Given the description of an element on the screen output the (x, y) to click on. 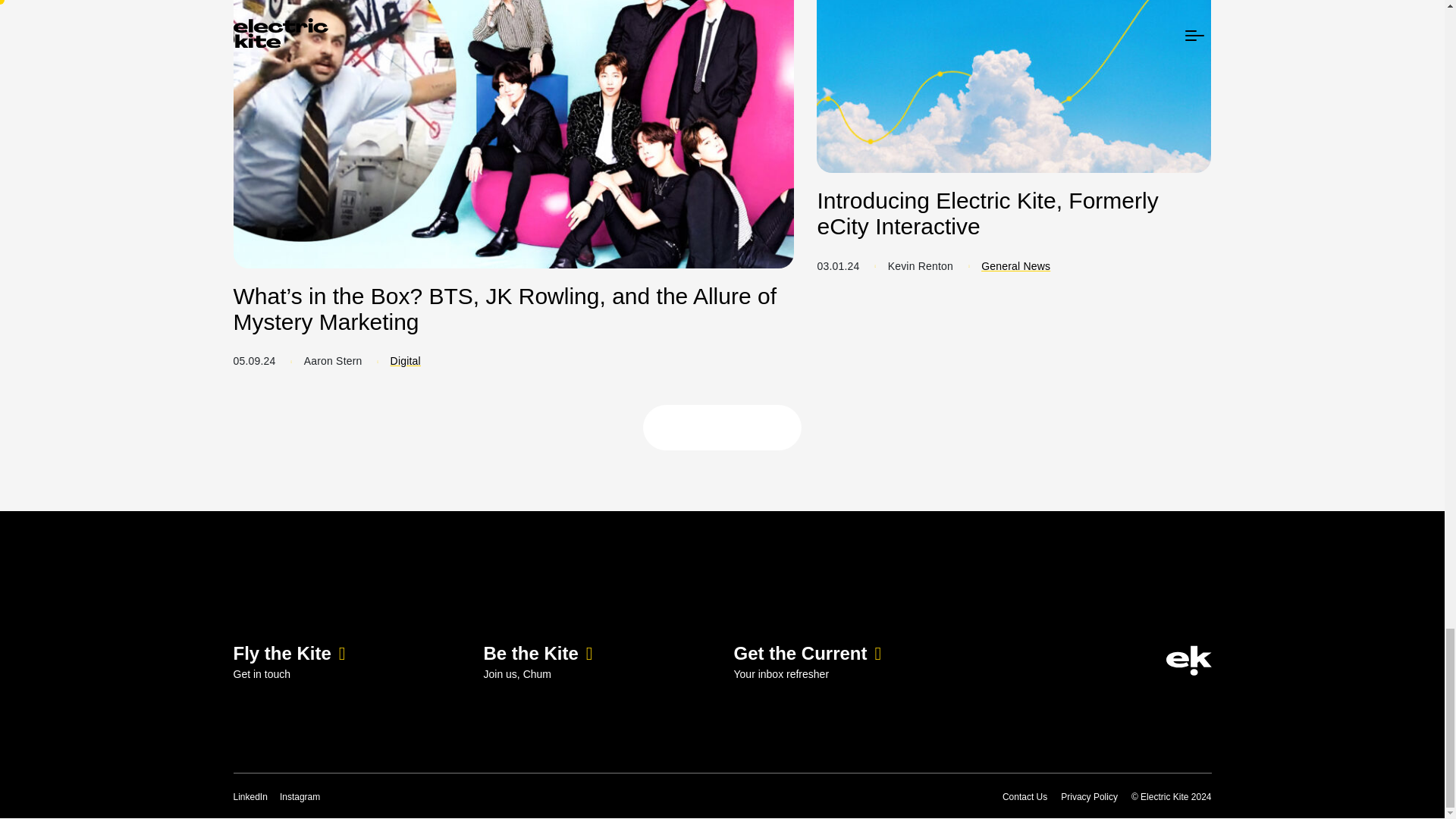
Introducing Electric Kite, Formerly eCity Interactive (1013, 119)
Contact Us (1024, 796)
Privacy Policy (1089, 796)
General News (1015, 265)
LinkedIn (249, 796)
Get the Current (807, 652)
Fly the Kite (289, 652)
Instagram (299, 796)
Be the Kite (537, 652)
Digital (405, 360)
Back to All Articles (722, 427)
